Given the description of an element on the screen output the (x, y) to click on. 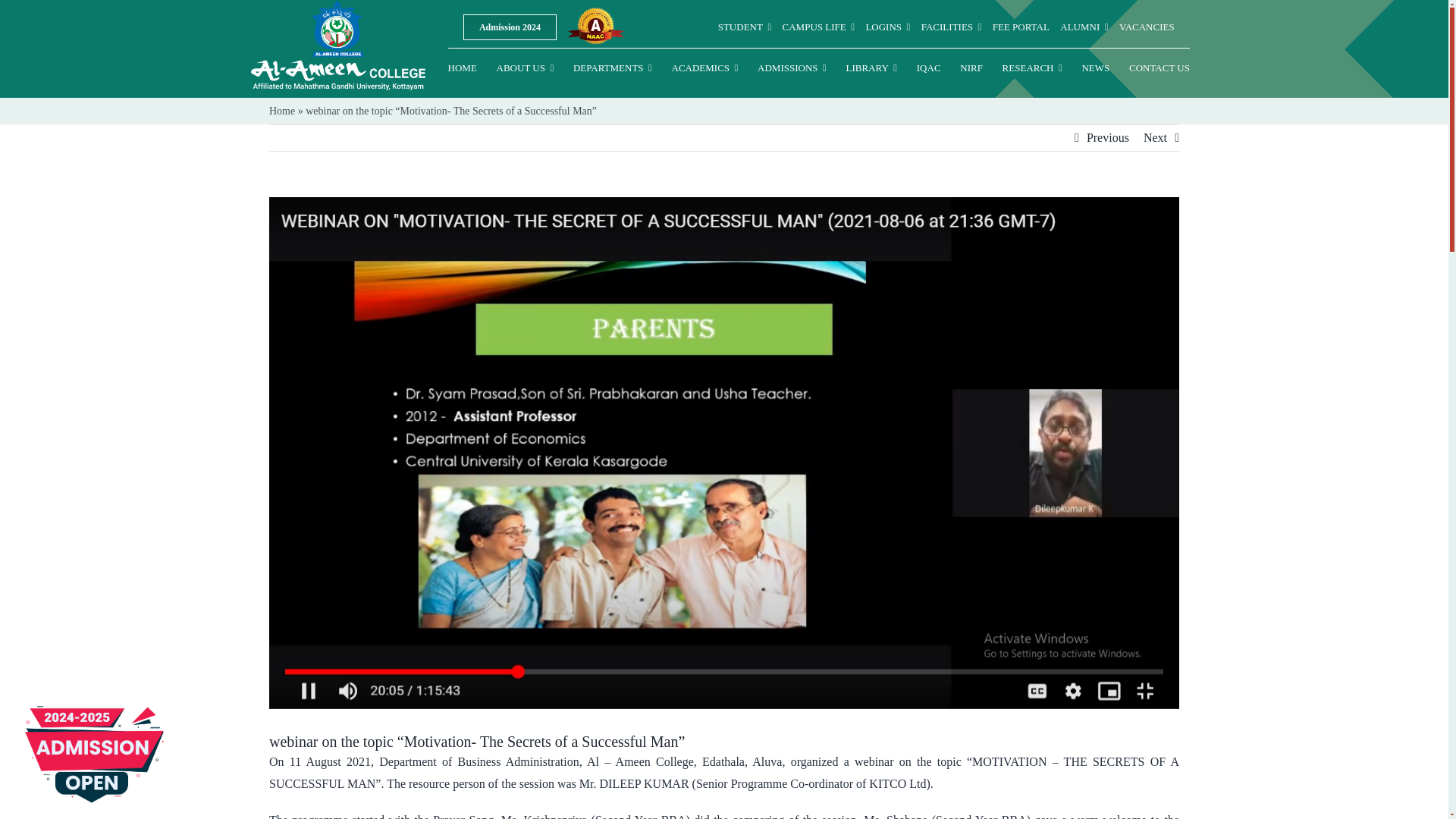
Admission 2024 (509, 27)
CAMPUS LIFE (818, 26)
STUDENT (744, 26)
